Given the description of an element on the screen output the (x, y) to click on. 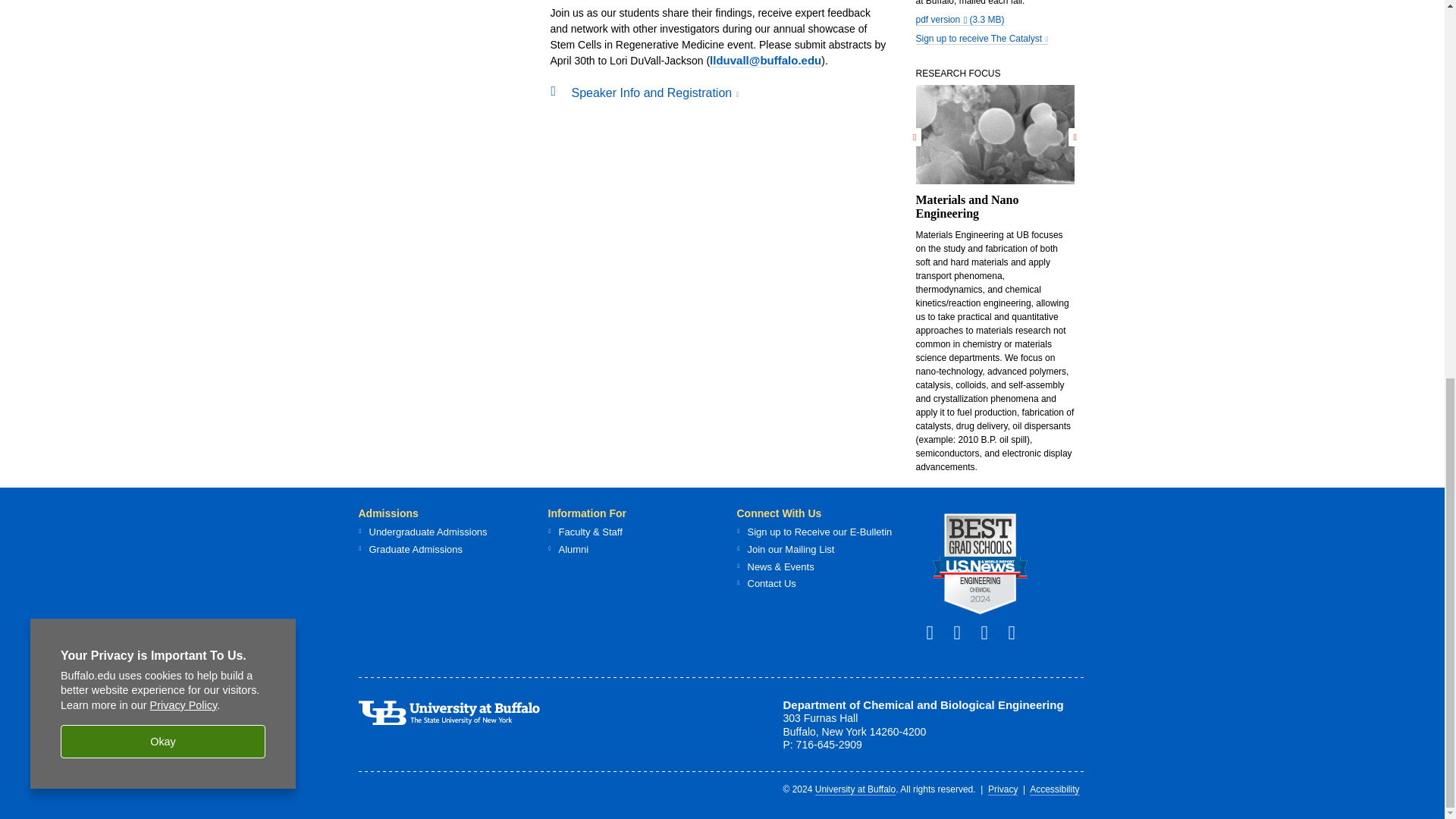
Subscribe to CBE's E-Bulletin (991, 631)
This link will download a file. (959, 19)
LinkedIn (963, 631)
This link opens a page in a new window or tab. (655, 92)
Facebook (936, 631)
This link opens a page in a new window or tab. (981, 39)
This link opens a page in a new window or tab. (979, 564)
